Given the description of an element on the screen output the (x, y) to click on. 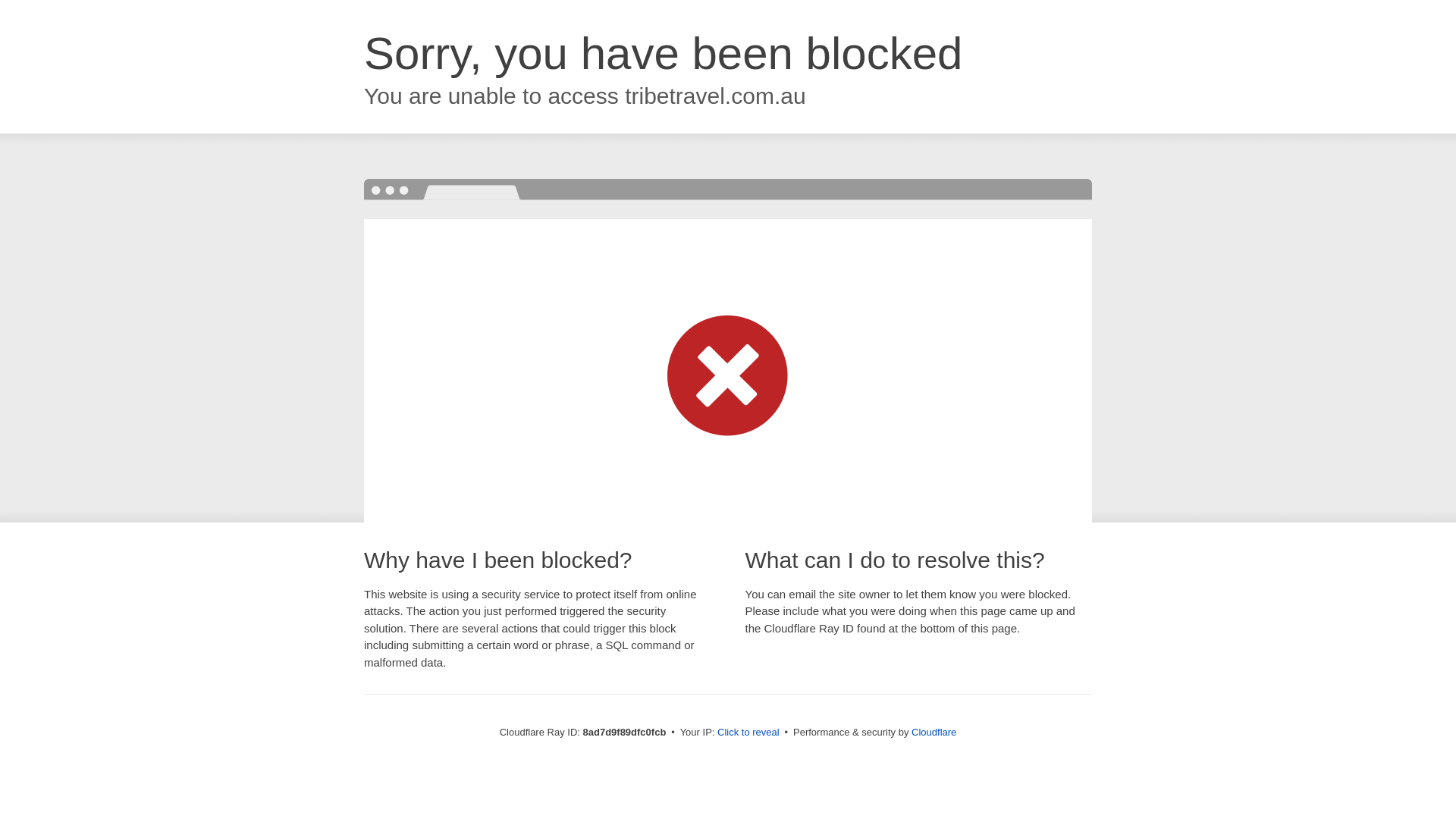
Click to reveal (747, 732)
Cloudflare (933, 731)
